Given the description of an element on the screen output the (x, y) to click on. 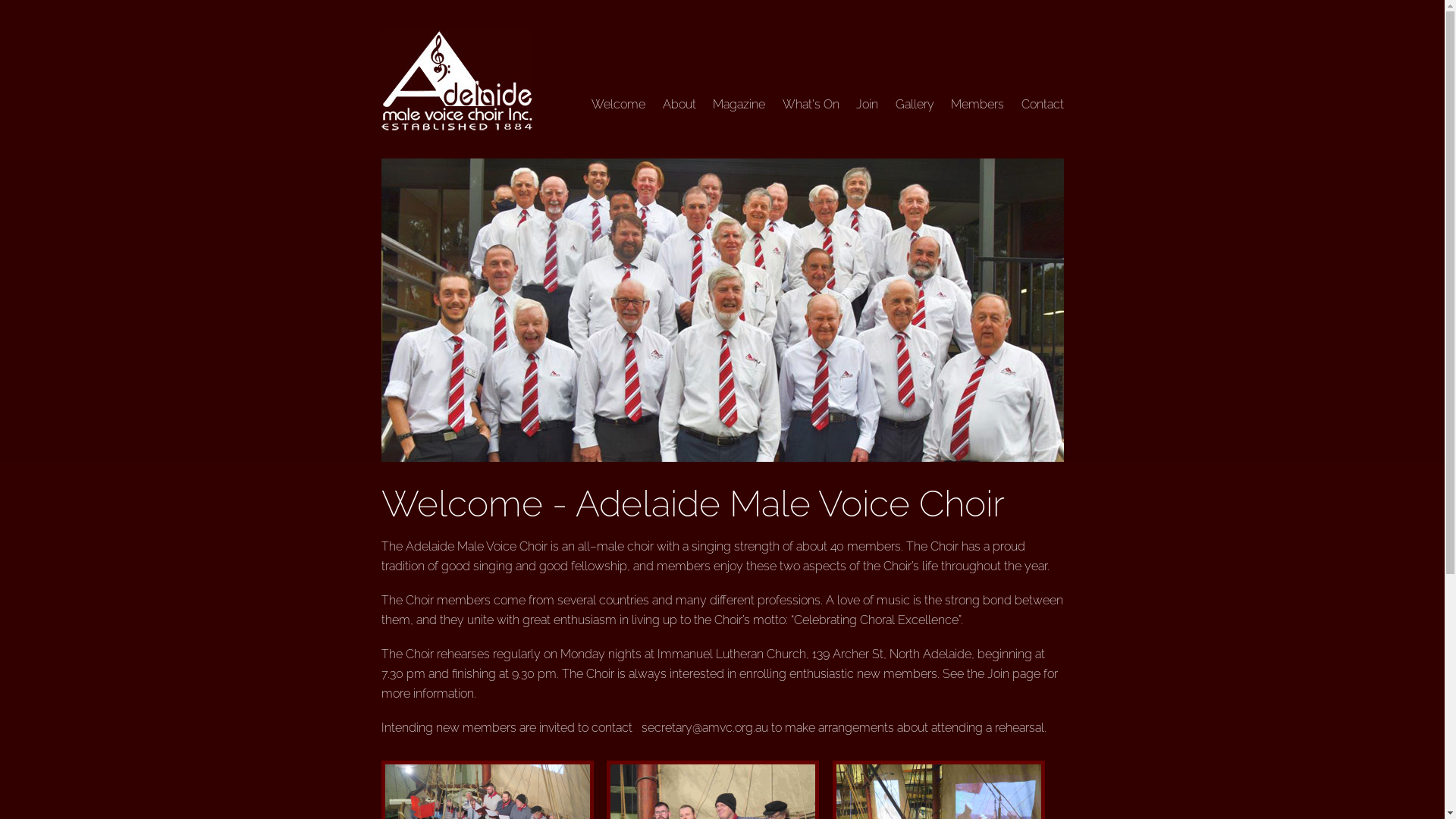
Join page Element type: text (1013, 673)
Join Element type: text (867, 104)
Contact Element type: text (1041, 104)
What's On Element type: text (810, 104)
Magazine Element type: text (738, 104)
Gallery Element type: text (913, 104)
Members Element type: text (977, 104)
secretary@amvc.org.au Element type: text (704, 727)
About Element type: text (679, 104)
Welcome Element type: text (618, 104)
